Given the description of an element on the screen output the (x, y) to click on. 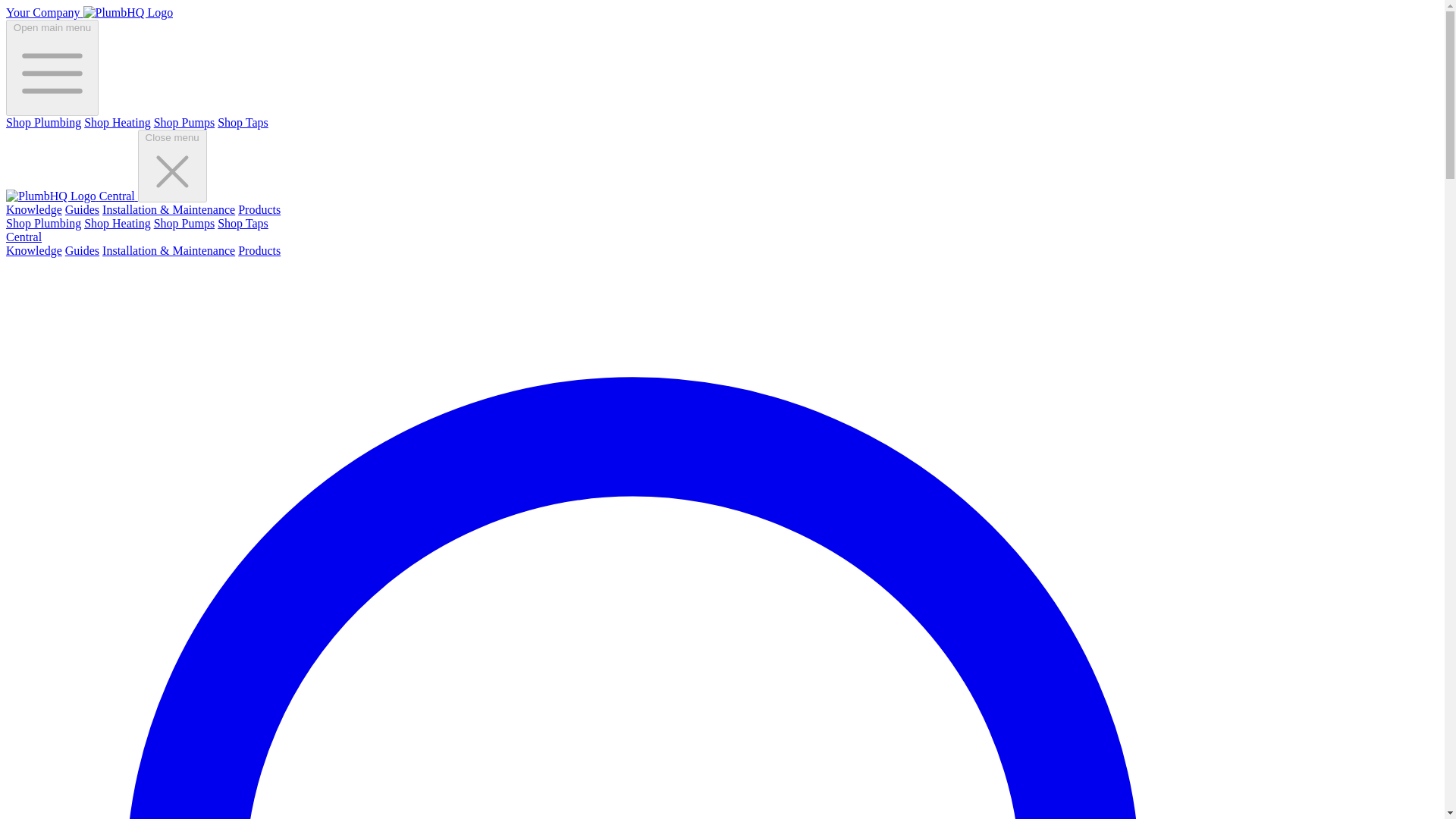
Knowledge (33, 209)
Guides (82, 209)
Your Company (89, 11)
Central (71, 195)
Guides (82, 250)
Open main menu (52, 67)
Shop Plumbing (43, 122)
Shop Pumps (184, 223)
Shop Taps (241, 122)
Central (23, 236)
Shop Heating (117, 223)
Shop Taps (241, 223)
Products (259, 209)
Shop Pumps (184, 122)
Knowledge (33, 250)
